Given the description of an element on the screen output the (x, y) to click on. 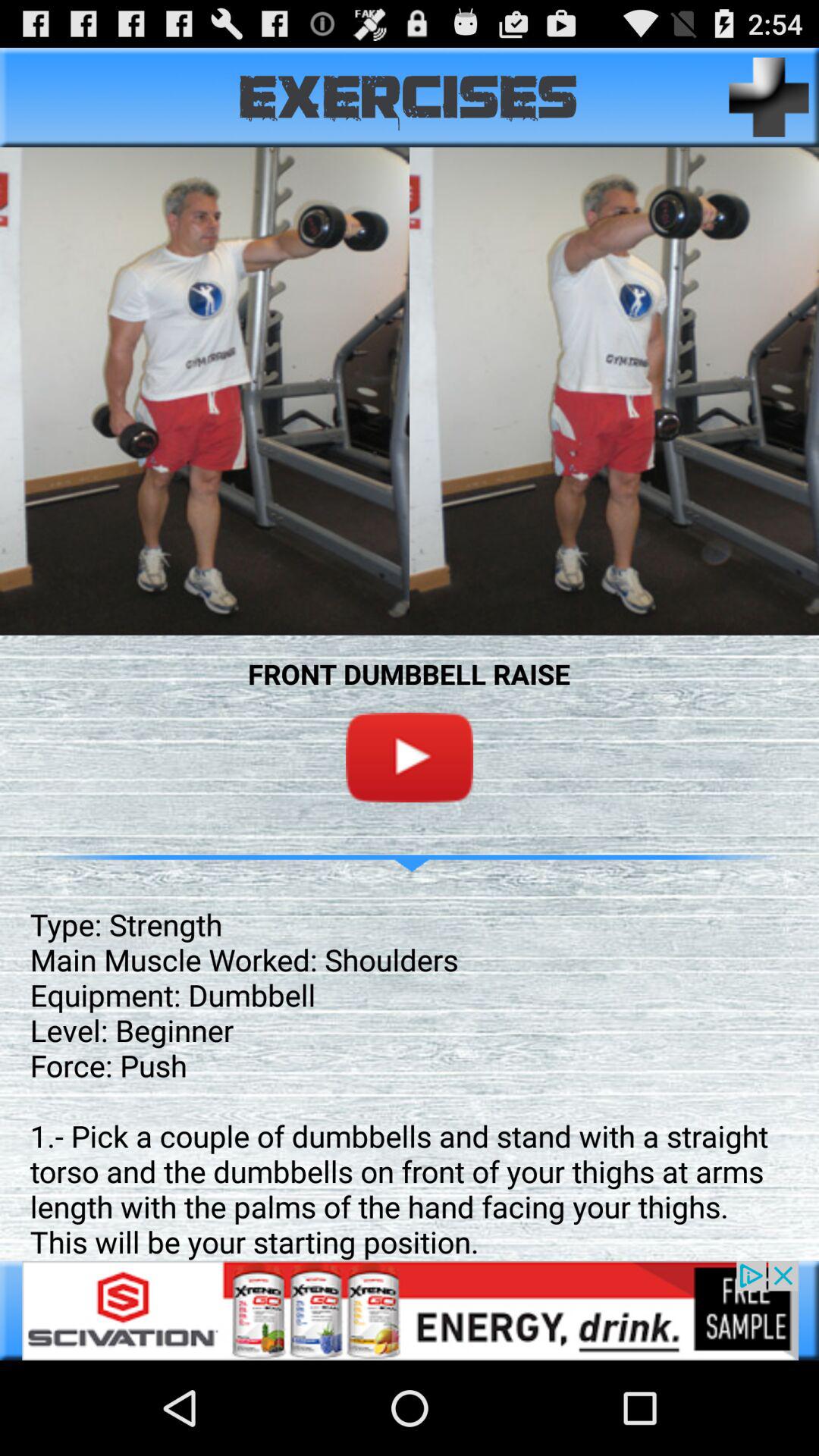
view advertisements (409, 1310)
